Given the description of an element on the screen output the (x, y) to click on. 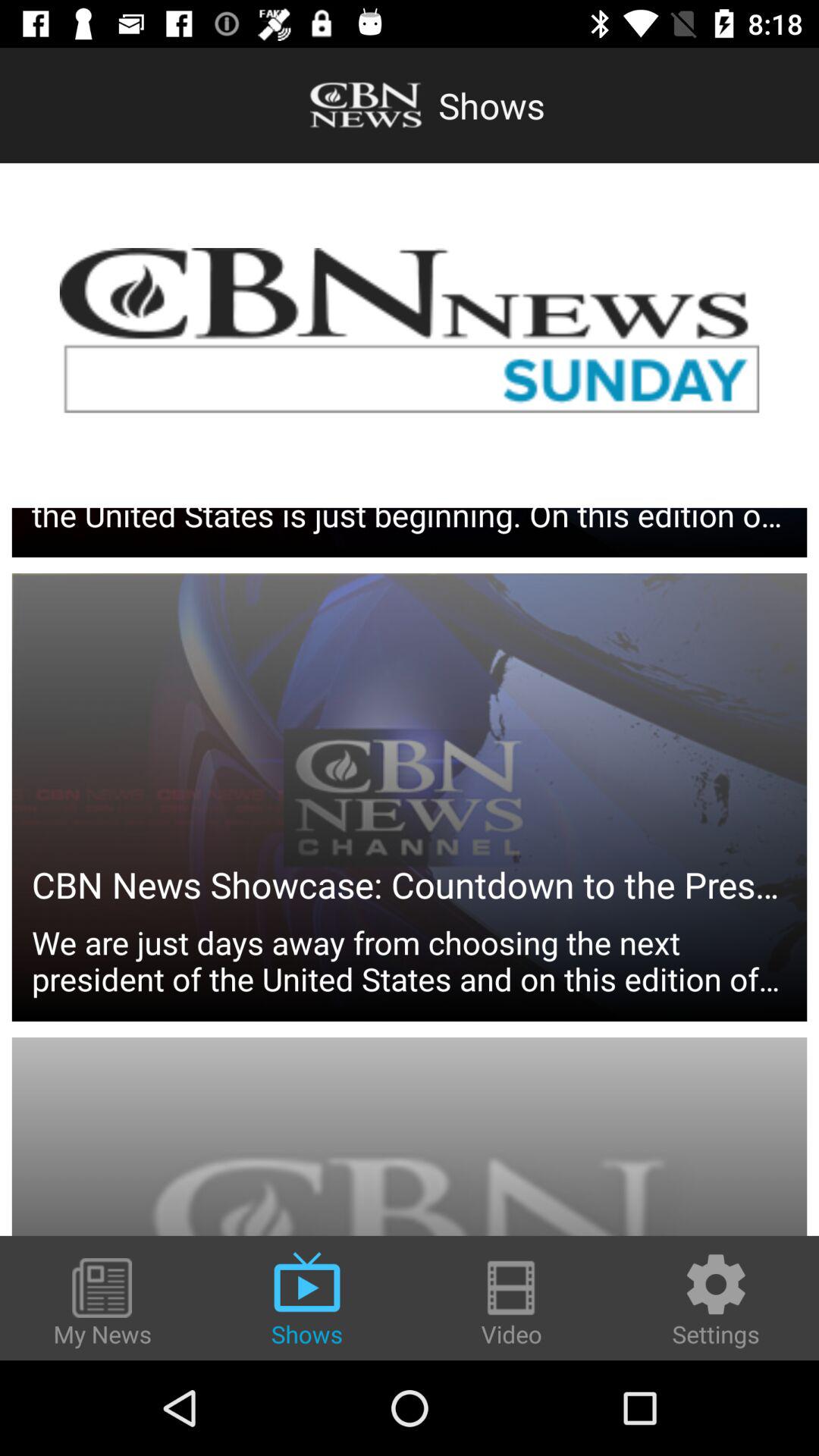
select icon below the cbn news showcase (409, 833)
